Given the description of an element on the screen output the (x, y) to click on. 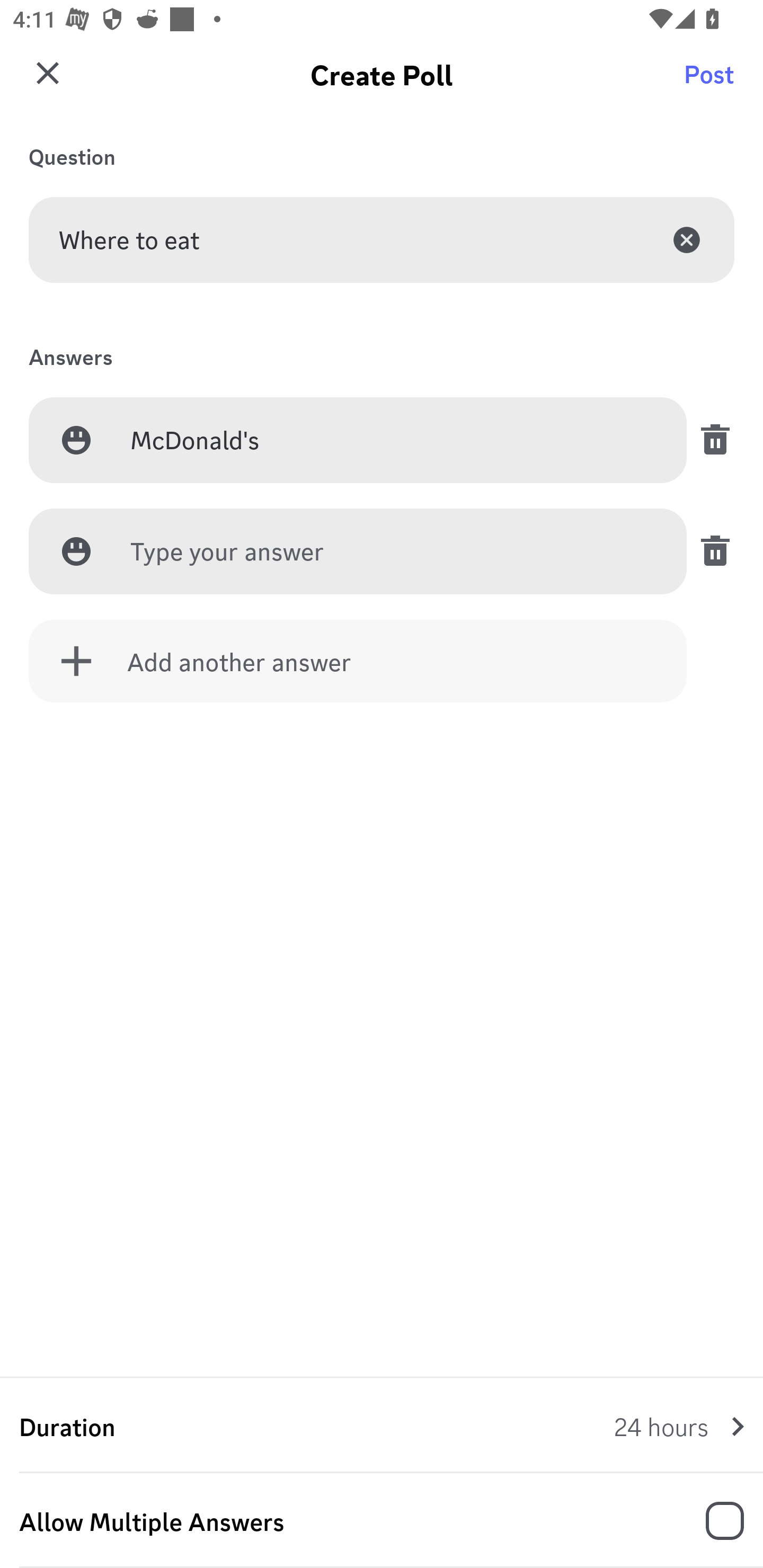
general (channel) general general (channel) (387, 82)
Back (44, 82)
Search (711, 82)
Where to eat Question (381, 239)
Clear (686, 239)
Add media, answer 1 (75, 439)
Remove answer 1 (710, 439)
McDonald's Answer 1 (393, 440)
Add media, answer 2 (75, 550)
Remove answer 2 (710, 550)
Type your answer Answer 2 (393, 551)
Add another answer (357, 660)
Duration 24 hours Duration 24 hours (381, 1425)
Allow Multiple Answers,  Allow Multiple Answers (381, 1520)
Record Voice Message (711, 1522)
